Given the description of an element on the screen output the (x, y) to click on. 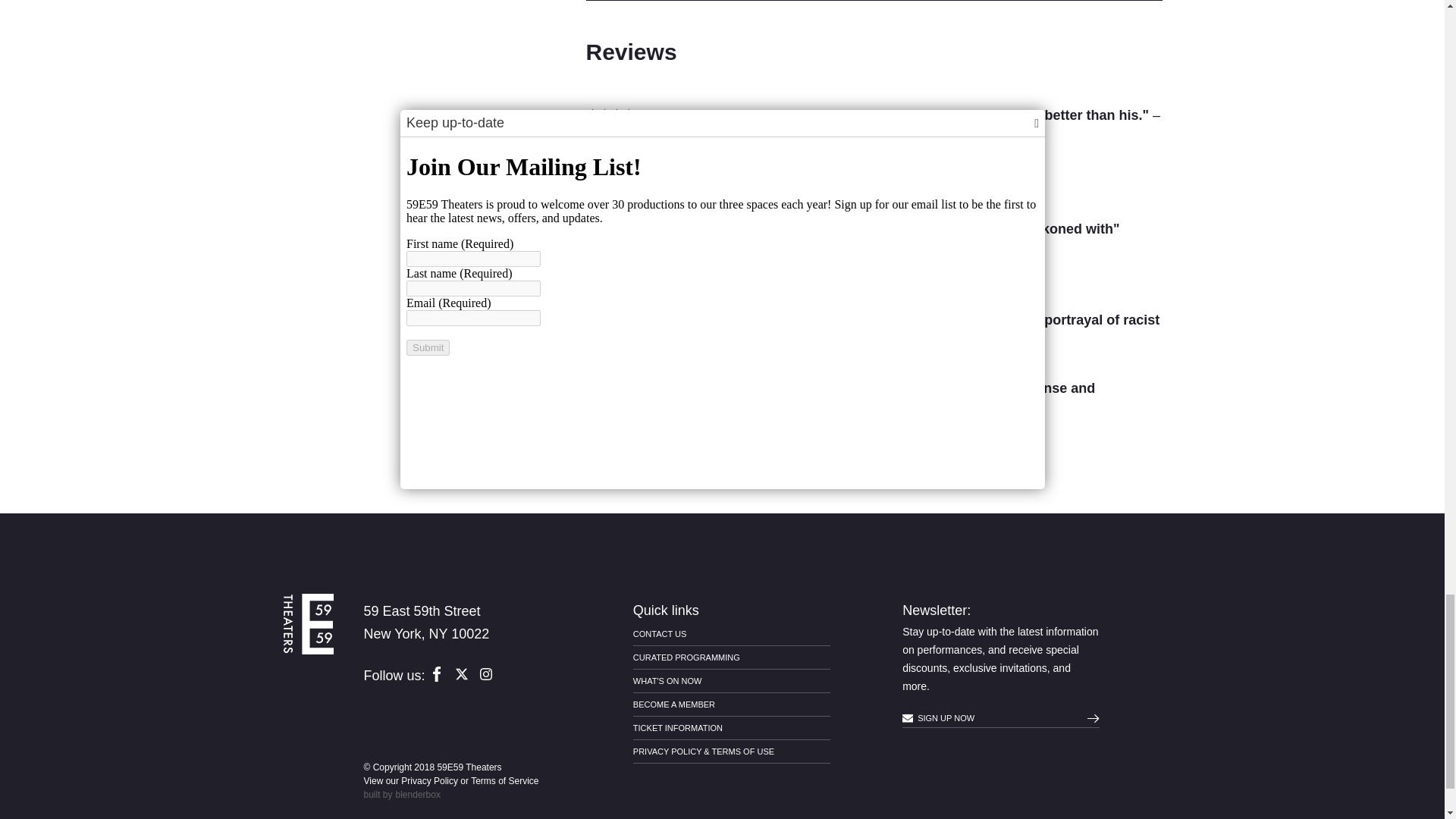
right arrow (1093, 718)
email (907, 718)
